Given the description of an element on the screen output the (x, y) to click on. 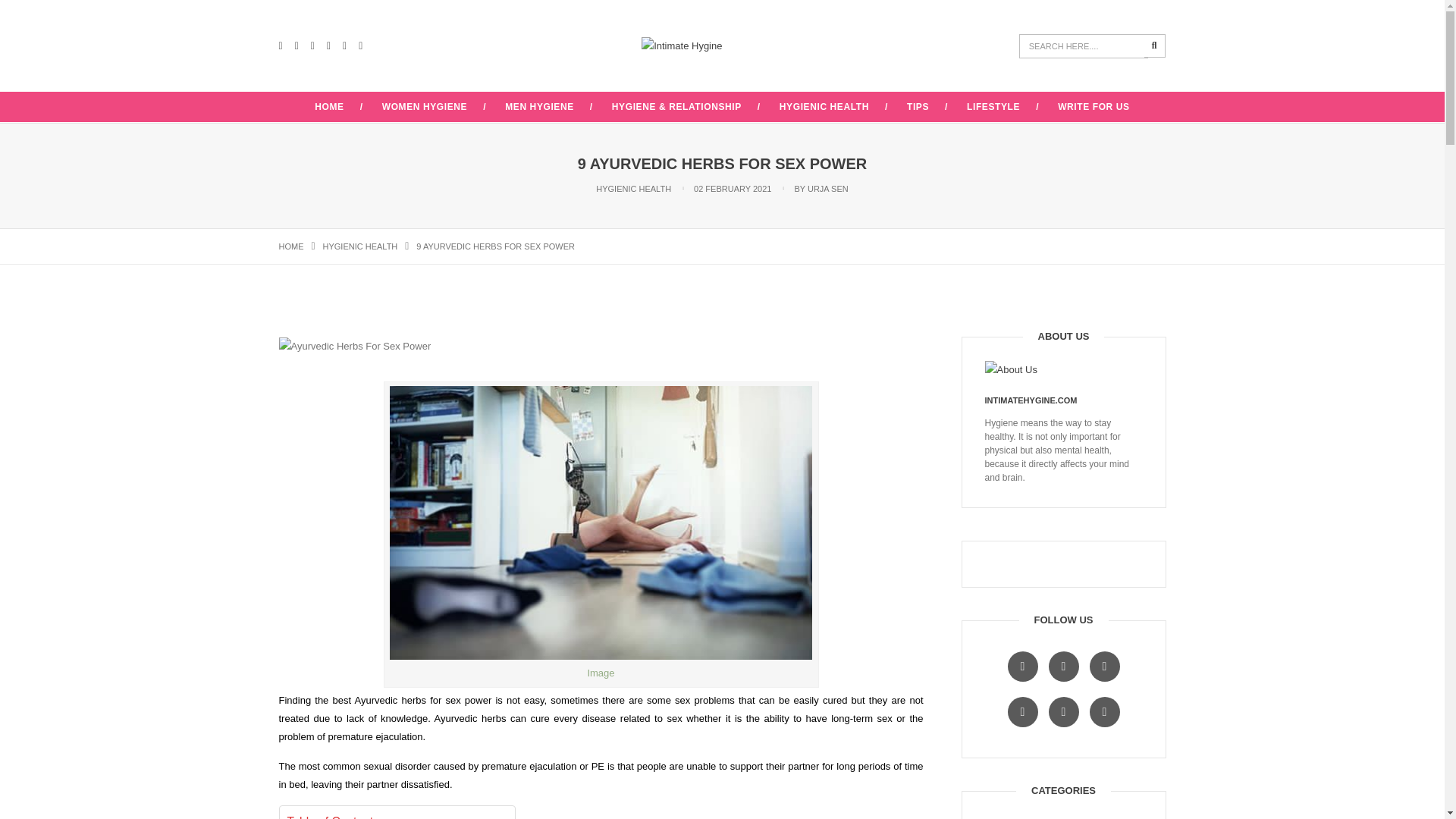
Search (1155, 45)
Browse to: Home (291, 245)
LIFESTYLE (993, 106)
TIPS (917, 106)
HYGIENIC HEALTH (633, 188)
WOMEN HYGIENE (424, 106)
MEN HYGIENE (539, 106)
HYGIENIC HEALTH (360, 245)
URJA SEN (828, 188)
HYGIENIC HEALTH (360, 245)
